Given the description of an element on the screen output the (x, y) to click on. 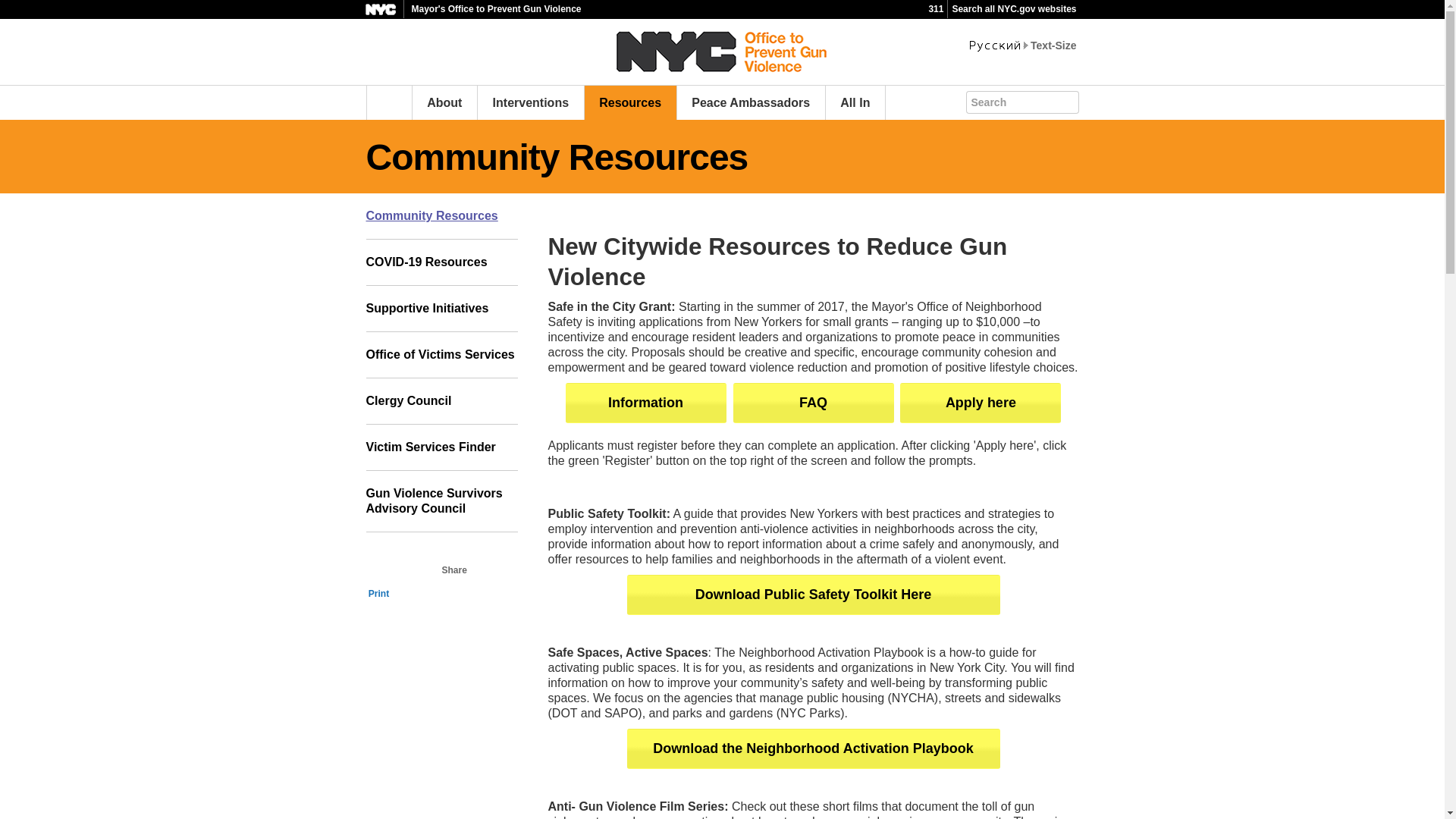
Apply here (980, 403)
search (1081, 100)
Gun Violence Survivors Advisory Council (440, 501)
COVID-19 Resources (440, 262)
Victim Services Finder (440, 447)
FAQ (812, 403)
Text-Size (1052, 45)
Download the Neighborhood Activation Playbook (812, 748)
Supportive Initiatives (440, 308)
Peace Ambassadors (750, 102)
